Given the description of an element on the screen output the (x, y) to click on. 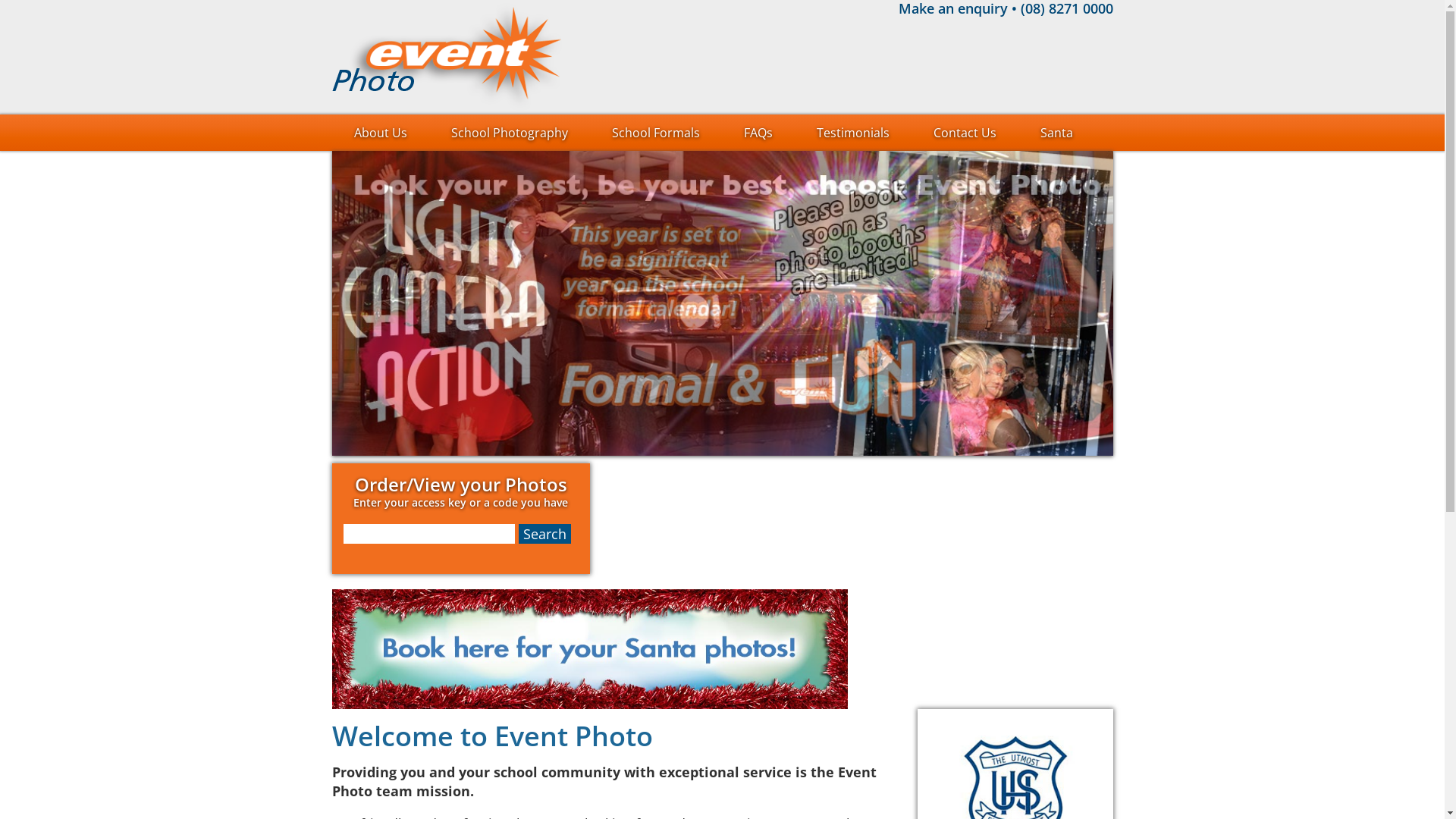
Contact Us Element type: text (964, 132)
About Us Element type: text (380, 132)
School Photography Element type: text (509, 132)
School Formals Element type: text (655, 132)
Testimonials Element type: text (852, 132)
Santa Element type: text (1055, 132)
Search Element type: text (544, 533)
FAQs Element type: text (757, 132)
